Given the description of an element on the screen output the (x, y) to click on. 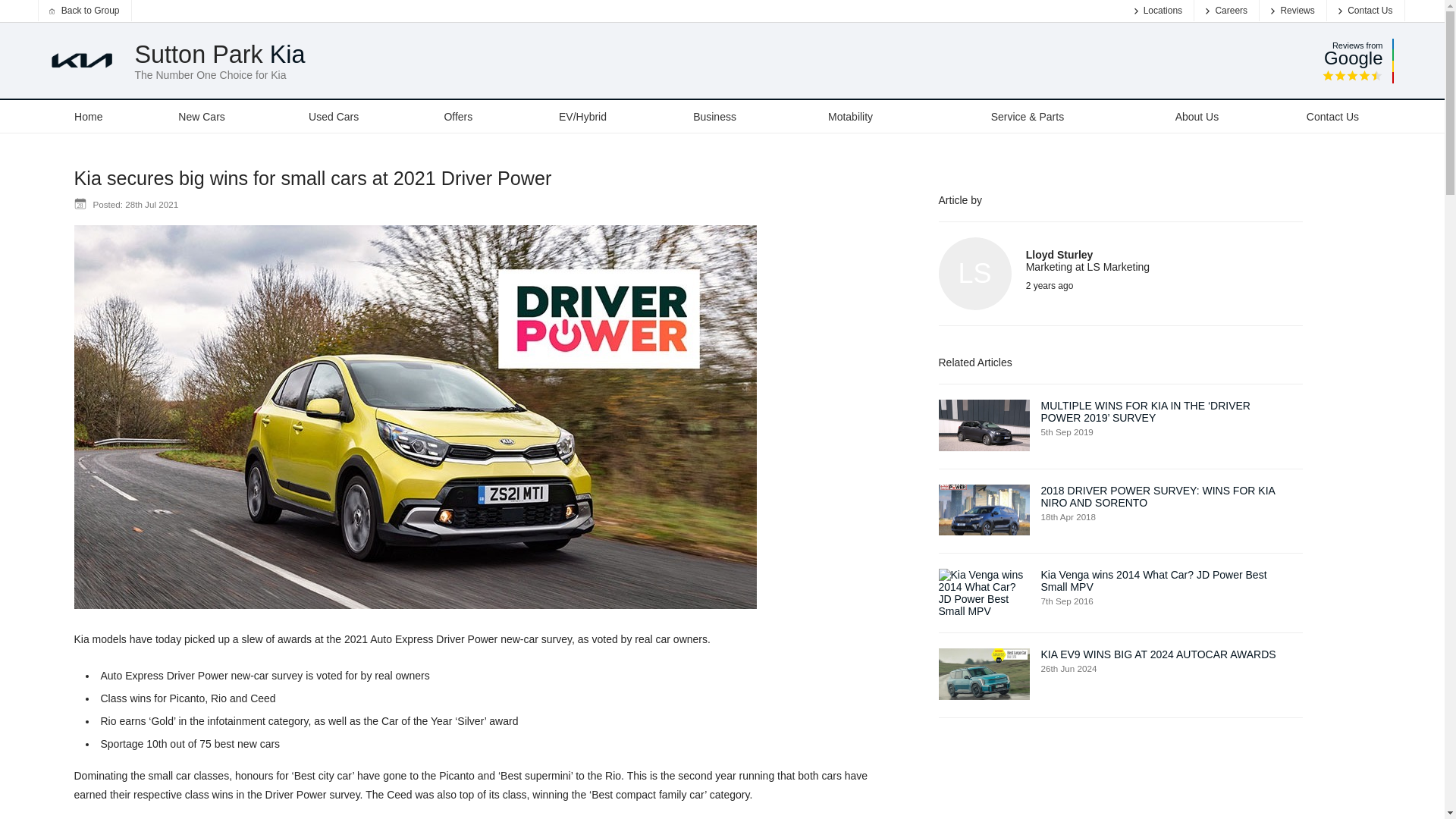
New Cars (201, 115)
Contact Us (1364, 10)
Locations (1157, 10)
Home (87, 115)
Back to Group (84, 10)
Reviews (1291, 10)
Careers (1226, 10)
